Given the description of an element on the screen output the (x, y) to click on. 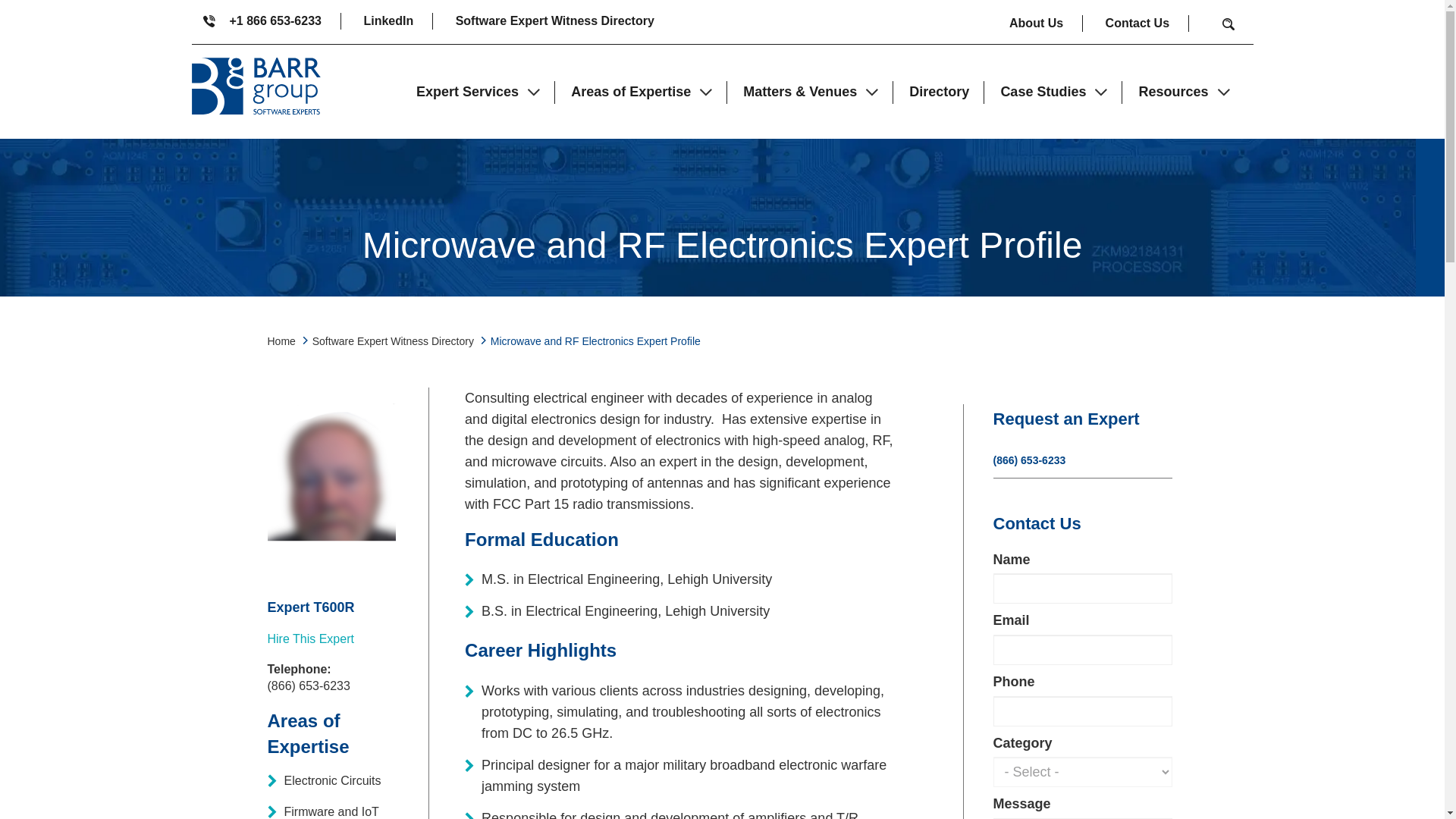
About Us (1046, 23)
Expert Services (477, 91)
LinkedIn (397, 21)
Software Expert Witness Directory (554, 21)
Contact Us (1147, 23)
Areas of Expertise (641, 91)
